Given the description of an element on the screen output the (x, y) to click on. 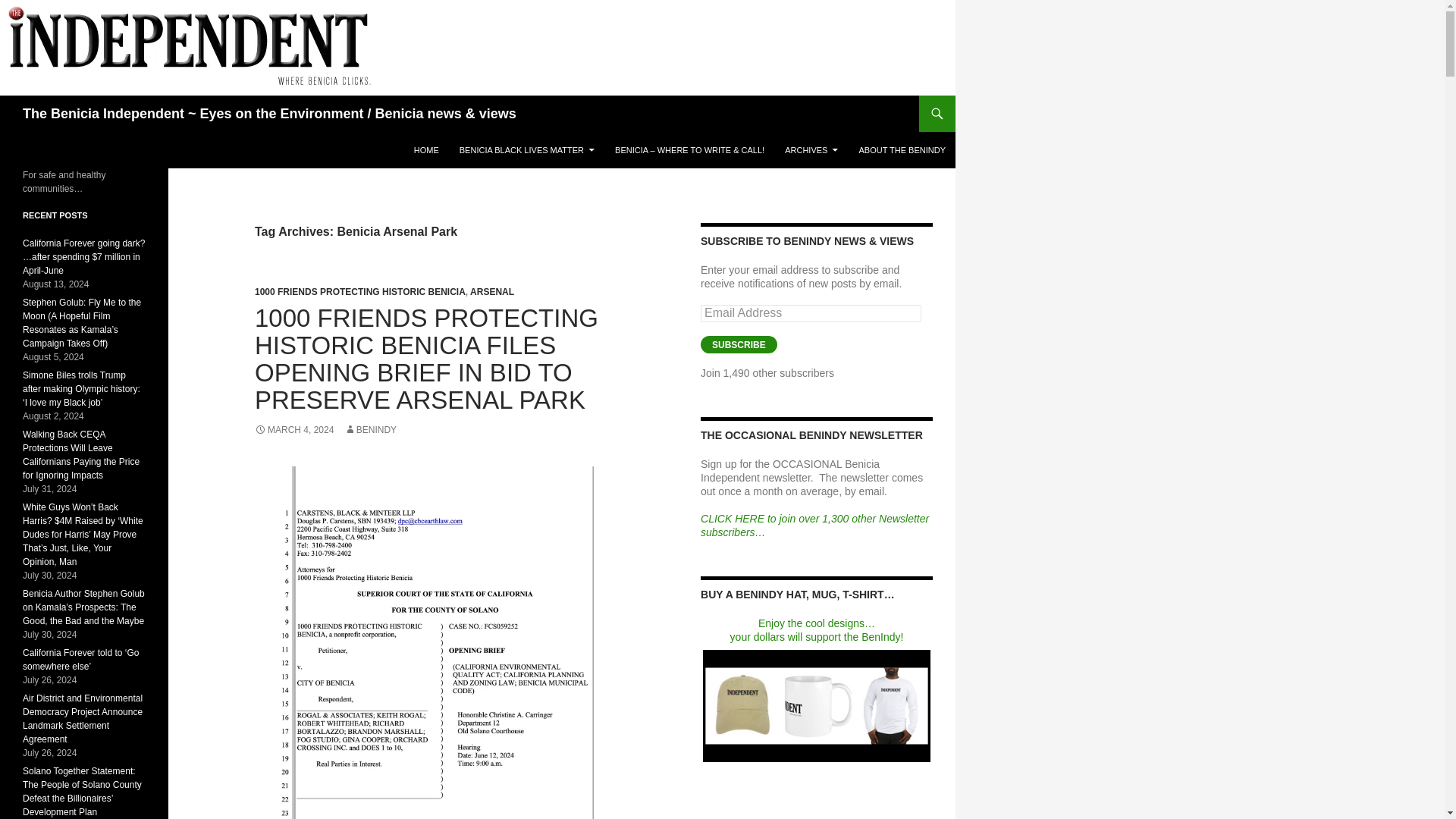
ARCHIVES (811, 149)
BENICIA BLACK LIVES MATTER (526, 149)
HOME (426, 149)
